Given the description of an element on the screen output the (x, y) to click on. 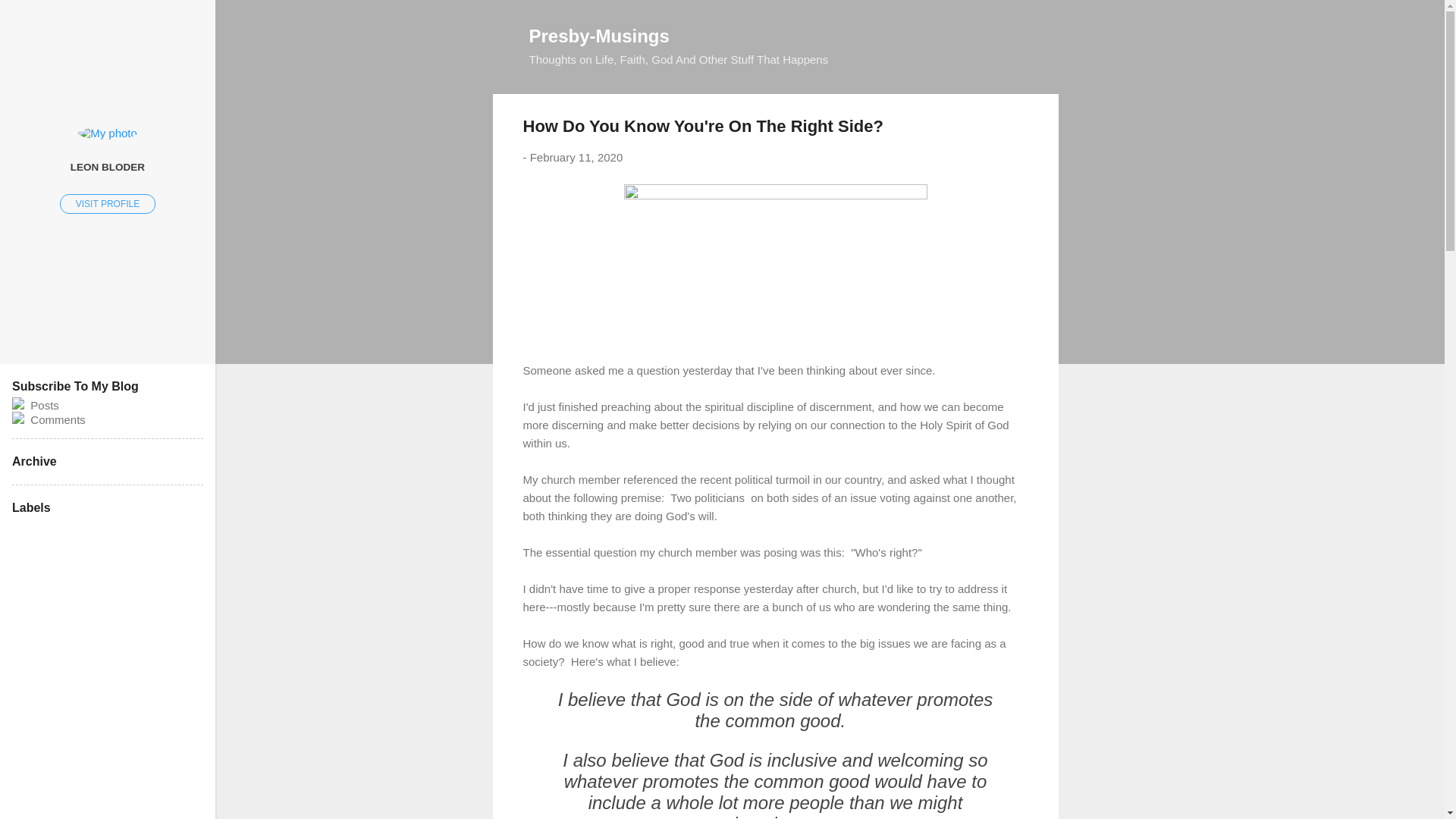
Presby-Musings (599, 35)
LEON BLODER (107, 166)
Advertisement (1118, 690)
Advertisement (1118, 321)
Search (29, 18)
February 11, 2020 (576, 156)
VISIT PROFILE (107, 203)
permanent link (576, 156)
